Given the description of an element on the screen output the (x, y) to click on. 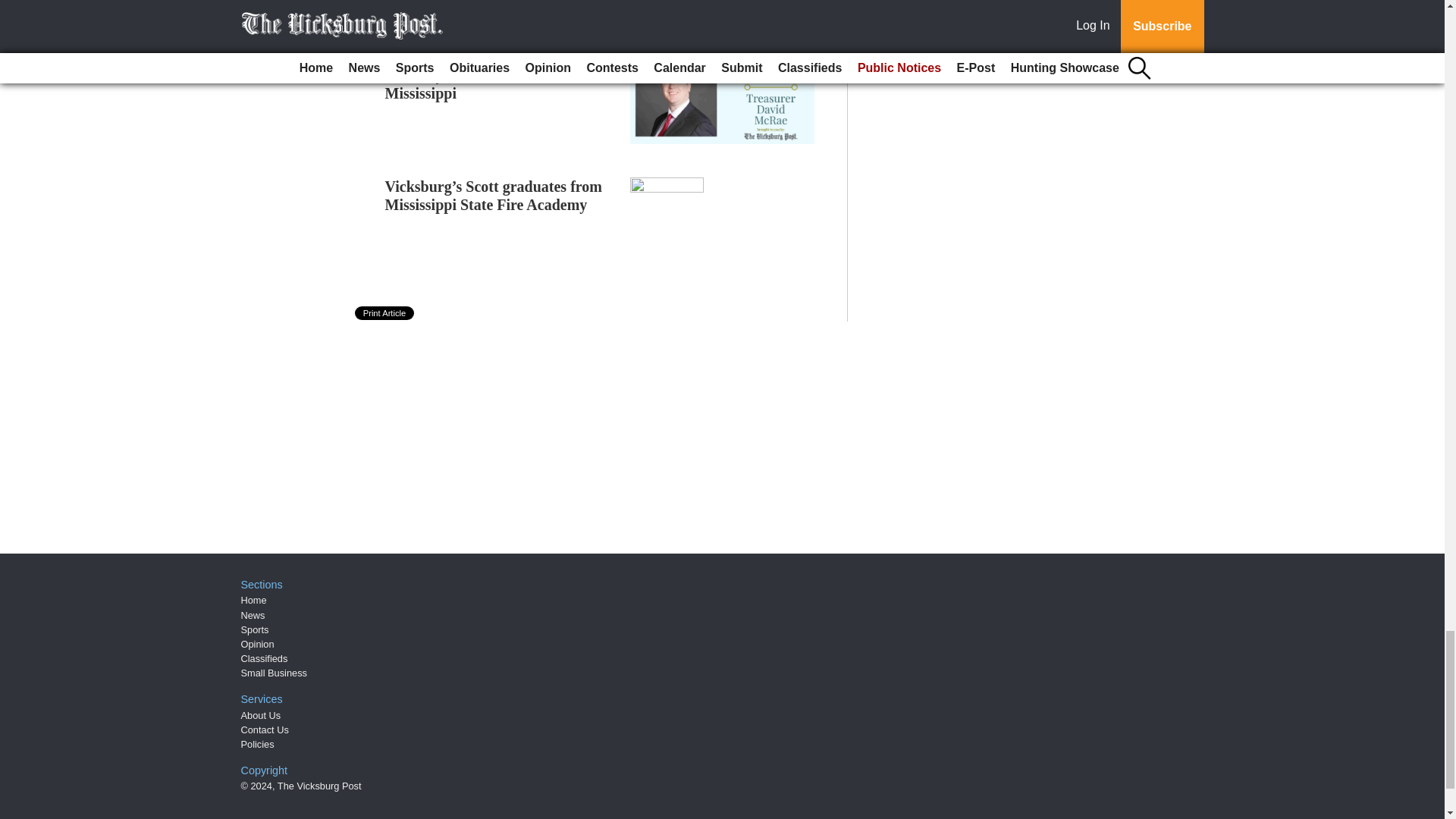
Print Article (384, 313)
